Given the description of an element on the screen output the (x, y) to click on. 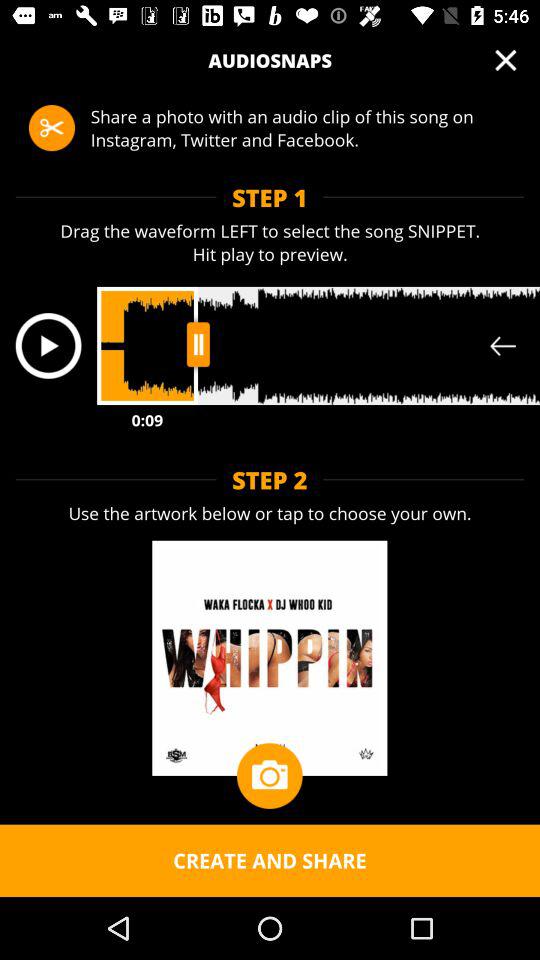
click on the pause icon below the step 1 (198, 344)
select the area which is just beside the play button (318, 346)
tap the close icon (505, 60)
